Given the description of an element on the screen output the (x, y) to click on. 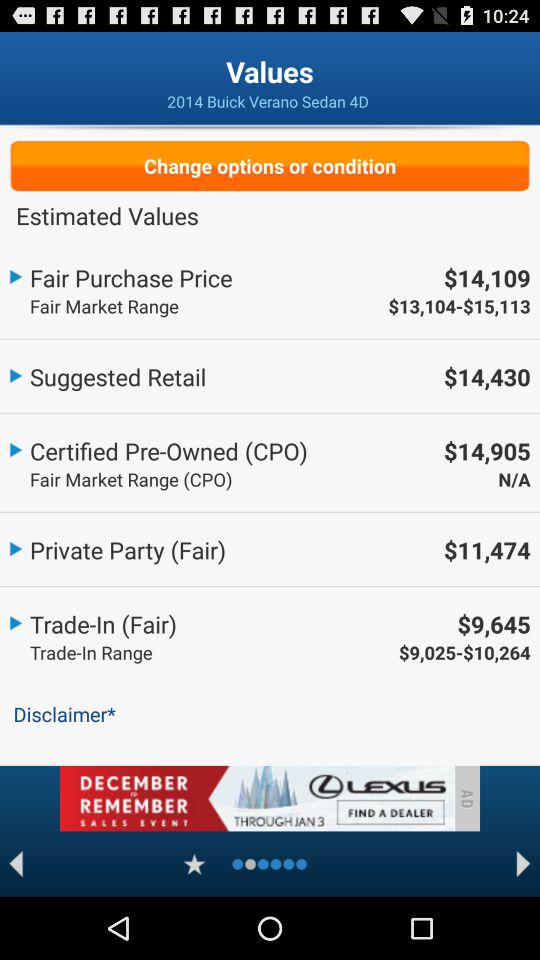
book mark (194, 864)
